Given the description of an element on the screen output the (x, y) to click on. 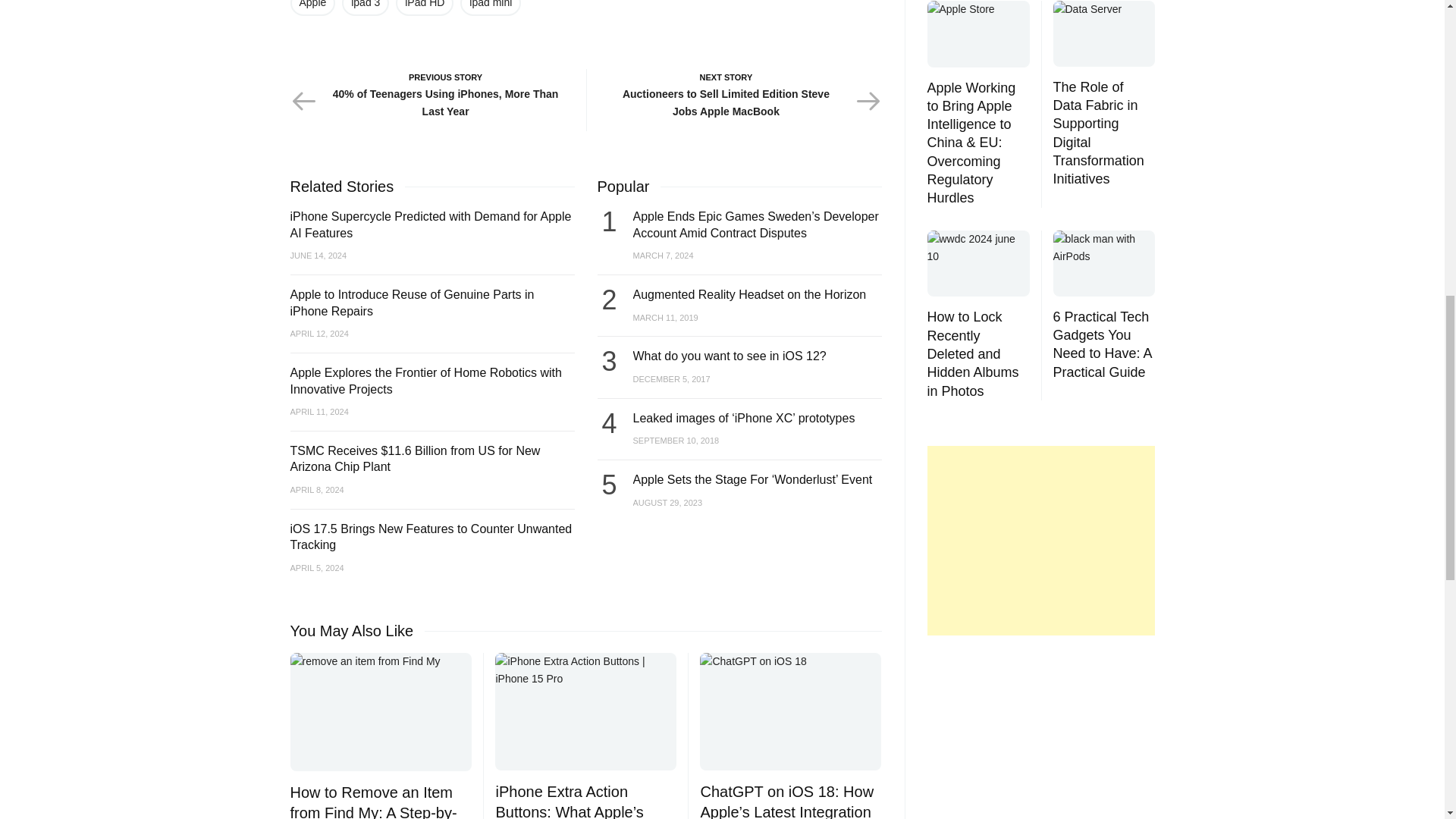
iPad HD (424, 7)
What do you want to see in iOS 12? (728, 355)
ipad mini (490, 7)
Advertisement (1037, 540)
Augmented Reality Headset on the Horizon (748, 294)
ipad 3 (365, 7)
Apple to Introduce Reuse of Genuine Parts in iPhone Repairs (411, 302)
Apple (311, 7)
iOS 17.5 Brings New Features to Counter Unwanted Tracking (430, 537)
